Given the description of an element on the screen output the (x, y) to click on. 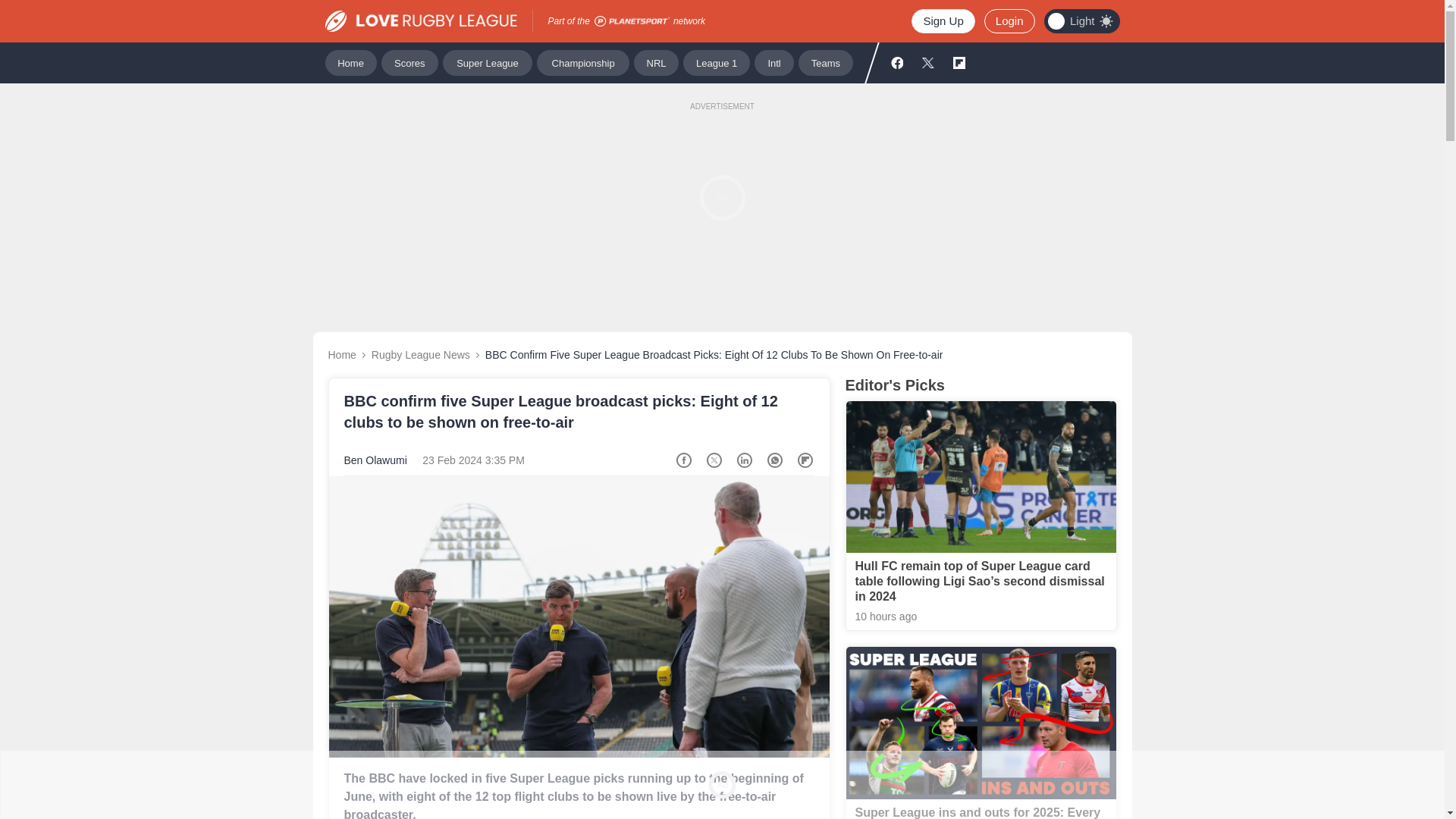
Intl (773, 62)
Sign Up (942, 21)
Ben Olawumi (375, 460)
NRL (655, 62)
Home (349, 62)
League 1 (715, 62)
Rugby League News (420, 354)
Championship (582, 62)
Scores (409, 62)
Super League (487, 62)
Login (1009, 21)
Home (341, 354)
Teams (825, 62)
